Given the description of an element on the screen output the (x, y) to click on. 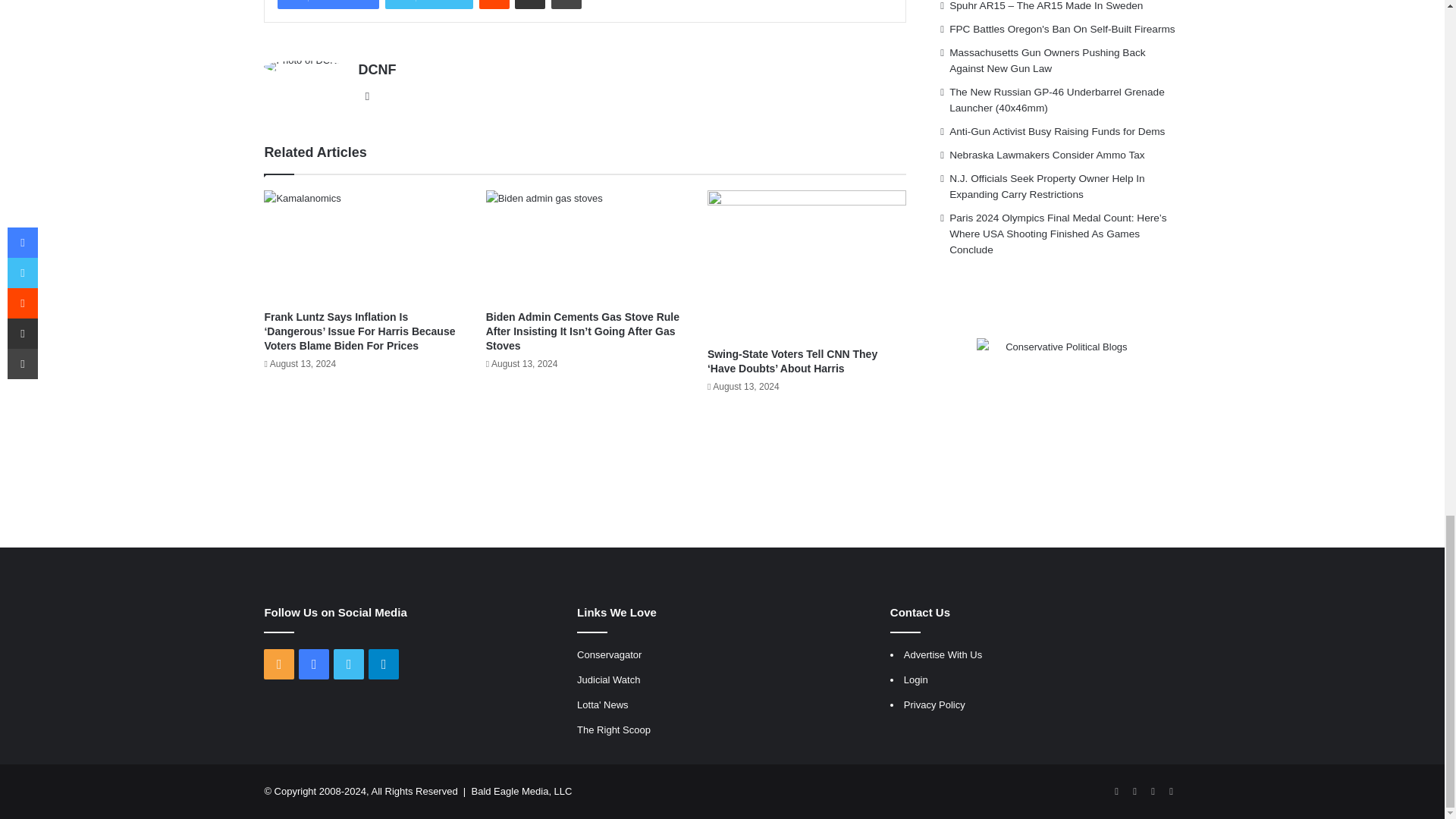
Facebook (328, 4)
Share via Email (529, 4)
Twitter (429, 4)
Reddit (494, 4)
